Given the description of an element on the screen output the (x, y) to click on. 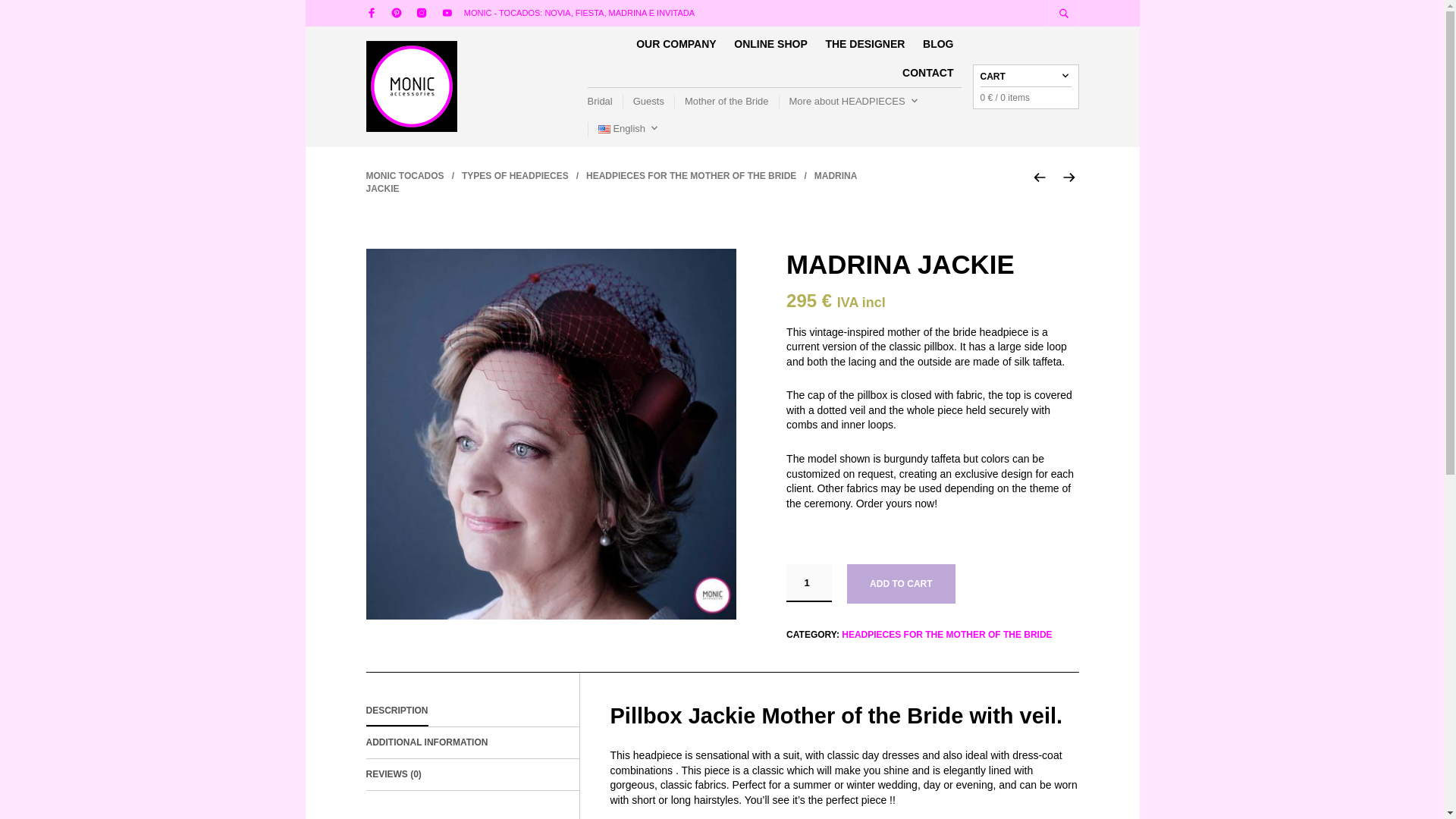
Bridal (603, 101)
ADD TO CART (901, 583)
TYPES OF HEADPIECES (515, 175)
THE DESIGNER (864, 44)
HEADPIECES FOR THE MOTHER OF THE BRIDE (946, 634)
CONTACT (927, 72)
More about HEADPIECES (848, 101)
MONIC TOCADOS (404, 175)
Mother of the Bride (726, 101)
